Given the description of an element on the screen output the (x, y) to click on. 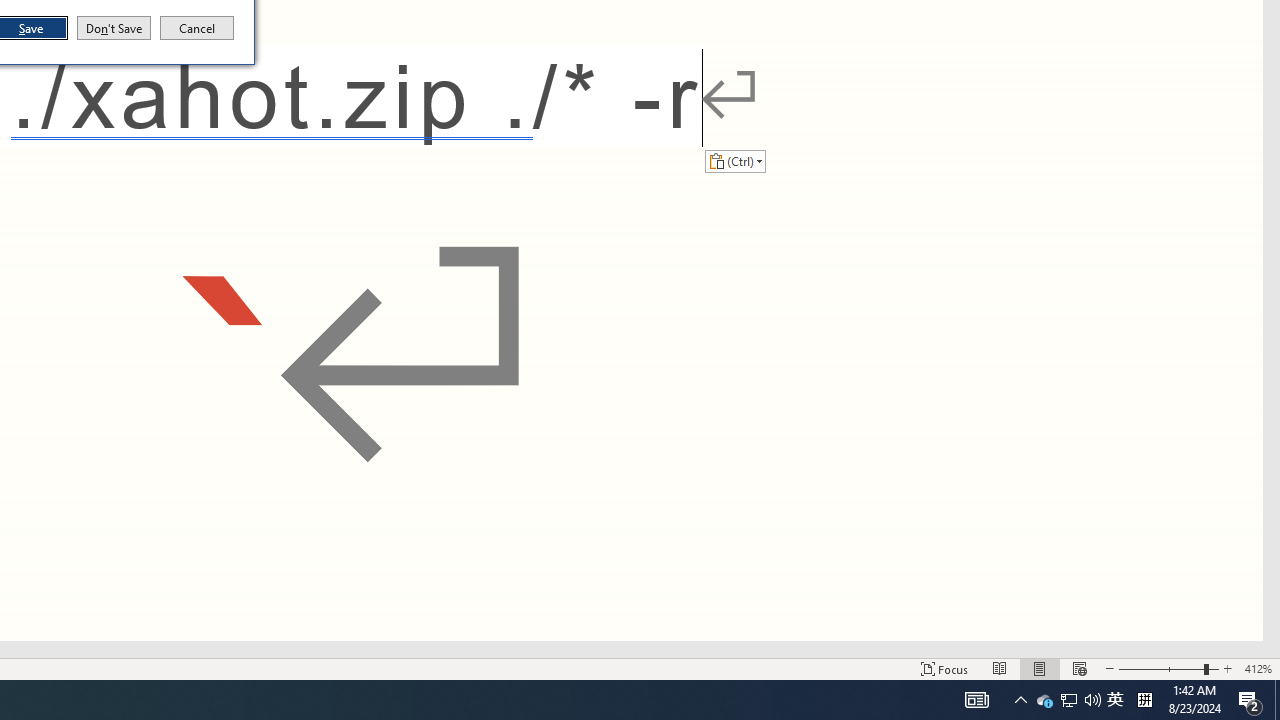
Zoom (1168, 668)
Zoom 412% (1258, 668)
Don't Save (1115, 699)
Show desktop (113, 27)
Cancel (1277, 699)
Tray Input Indicator - Chinese (Simplified, China) (197, 27)
Notification Chevron (1044, 699)
